Given the description of an element on the screen output the (x, y) to click on. 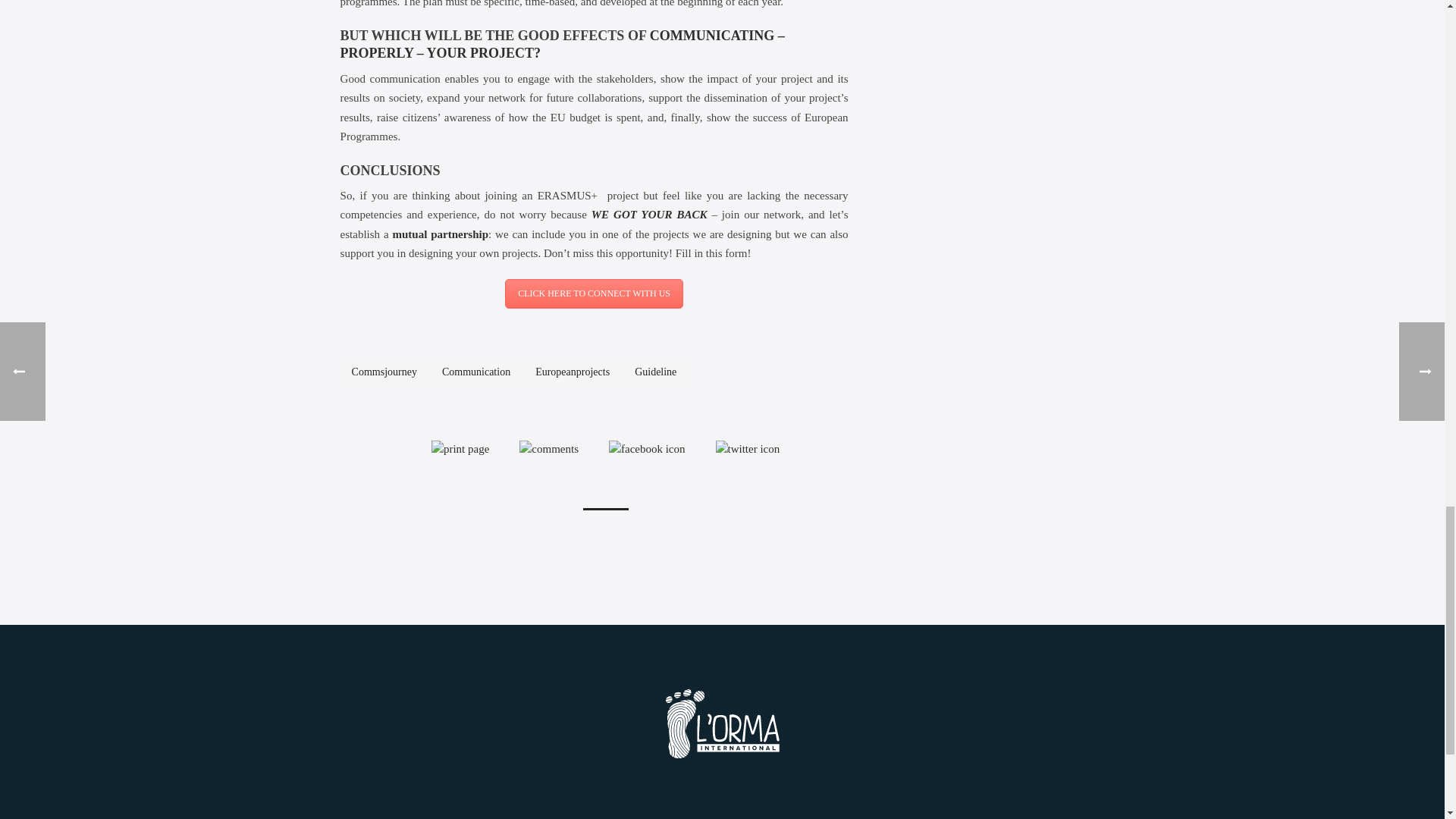
Commsjourney (384, 371)
Print (459, 448)
CLICK HERE TO CONNECT WITH US (593, 293)
WE GOT YOUR BACK (649, 214)
Europeanprojects (572, 371)
Communication (475, 371)
Guideline (655, 371)
